Given the description of an element on the screen output the (x, y) to click on. 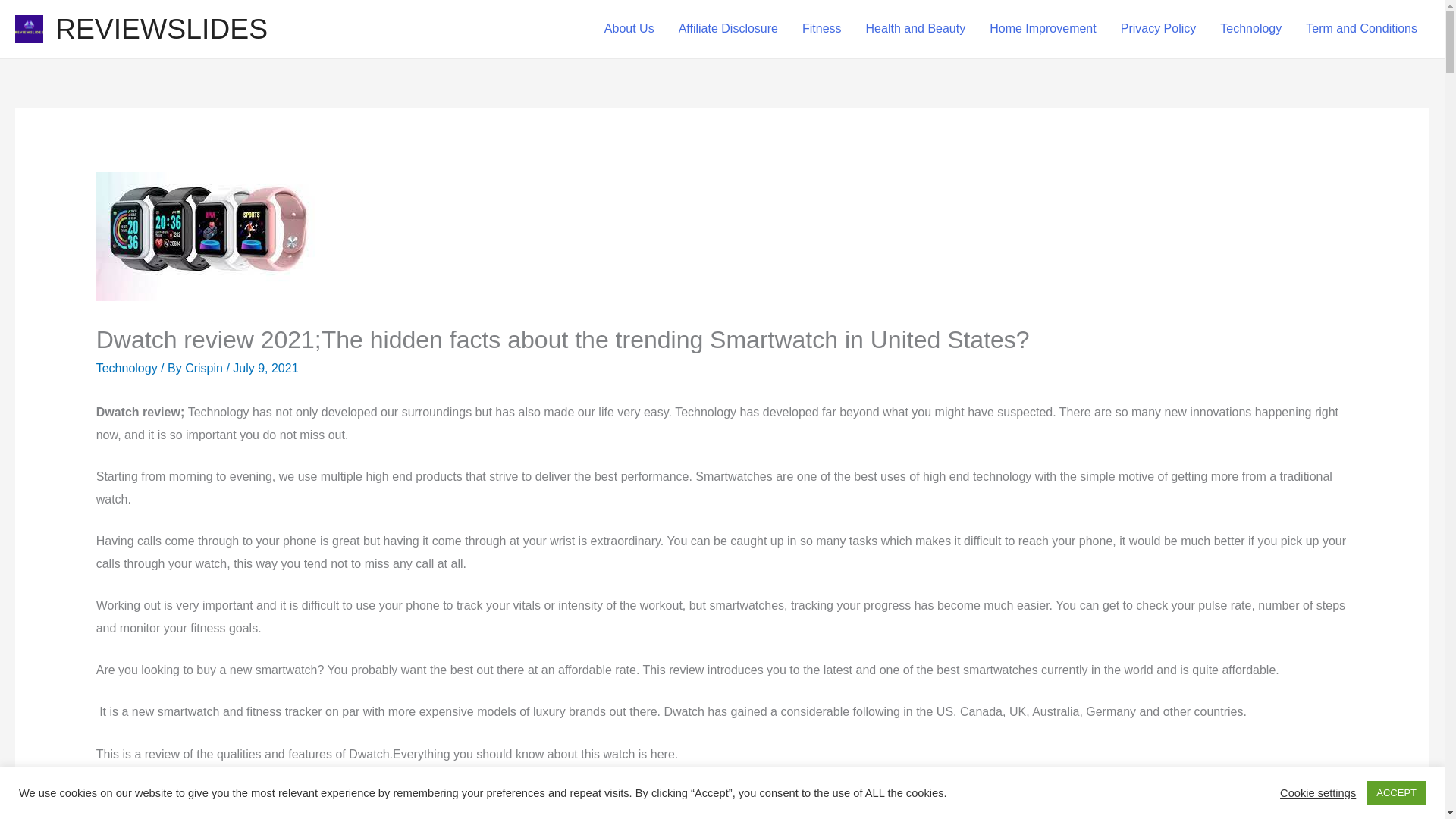
Technology (1251, 28)
Crispin (204, 367)
View all posts by Crispin (204, 367)
Affiliate Disclosure (728, 28)
Fitness (821, 28)
Health and Beauty (915, 28)
REVIEWSLIDES (161, 29)
Privacy Policy (1158, 28)
Term and Conditions (1361, 28)
Technology (126, 367)
About Us (629, 28)
Home Improvement (1042, 28)
